Given the description of an element on the screen output the (x, y) to click on. 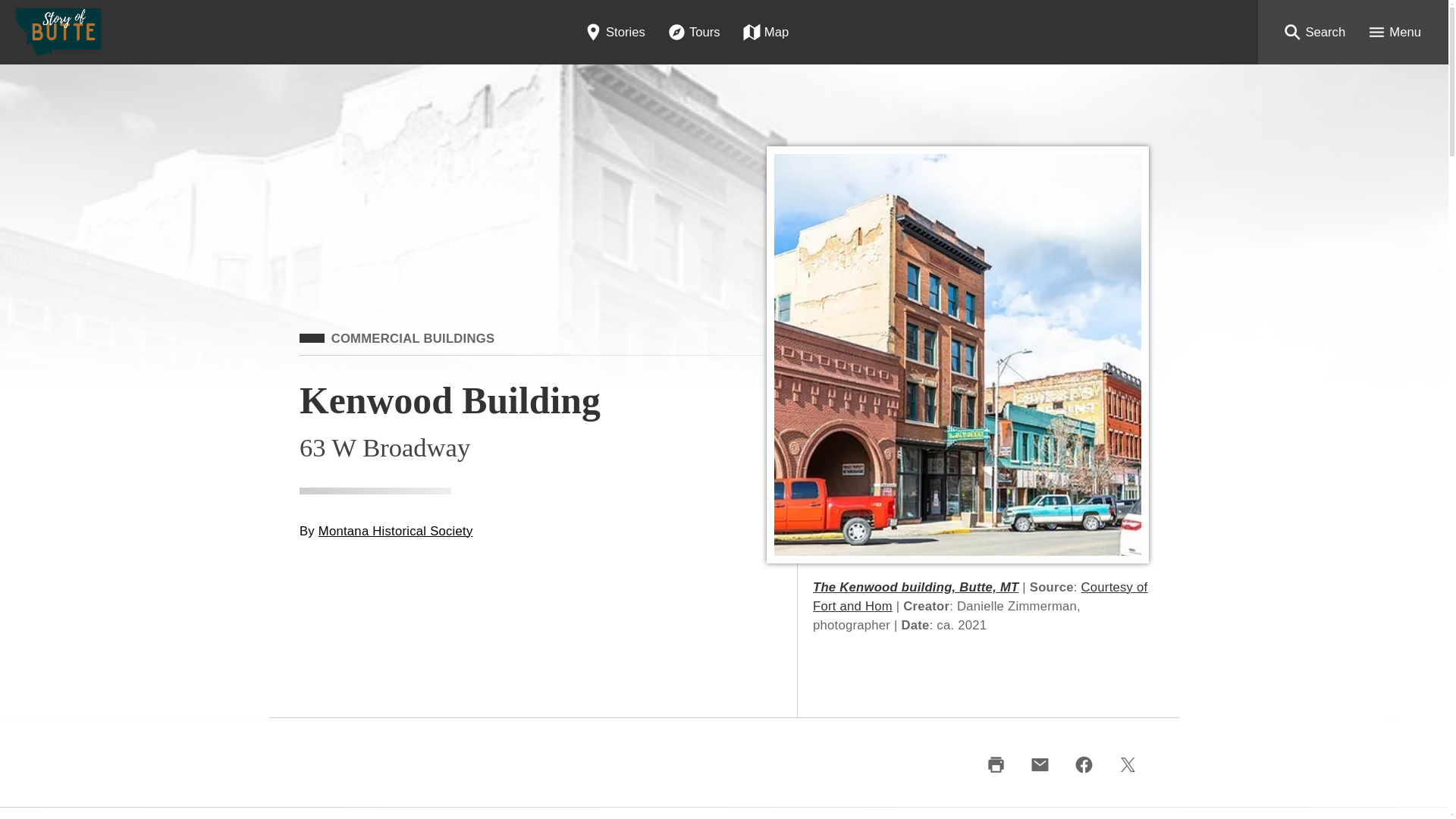
The Kenwood building, Butte, MT (914, 586)
Stories (614, 31)
facebook (1083, 764)
Subject: Commercial Buildings (397, 338)
COMMERCIAL BUILDINGS (397, 338)
Menu (1393, 31)
Menu (1393, 31)
Search (1313, 31)
email (1039, 764)
View File Record (914, 586)
Montana Historical Society (395, 531)
Search (1313, 31)
Courtesy of Fort and Hom (979, 596)
Map (765, 31)
Tours (694, 31)
